Given the description of an element on the screen output the (x, y) to click on. 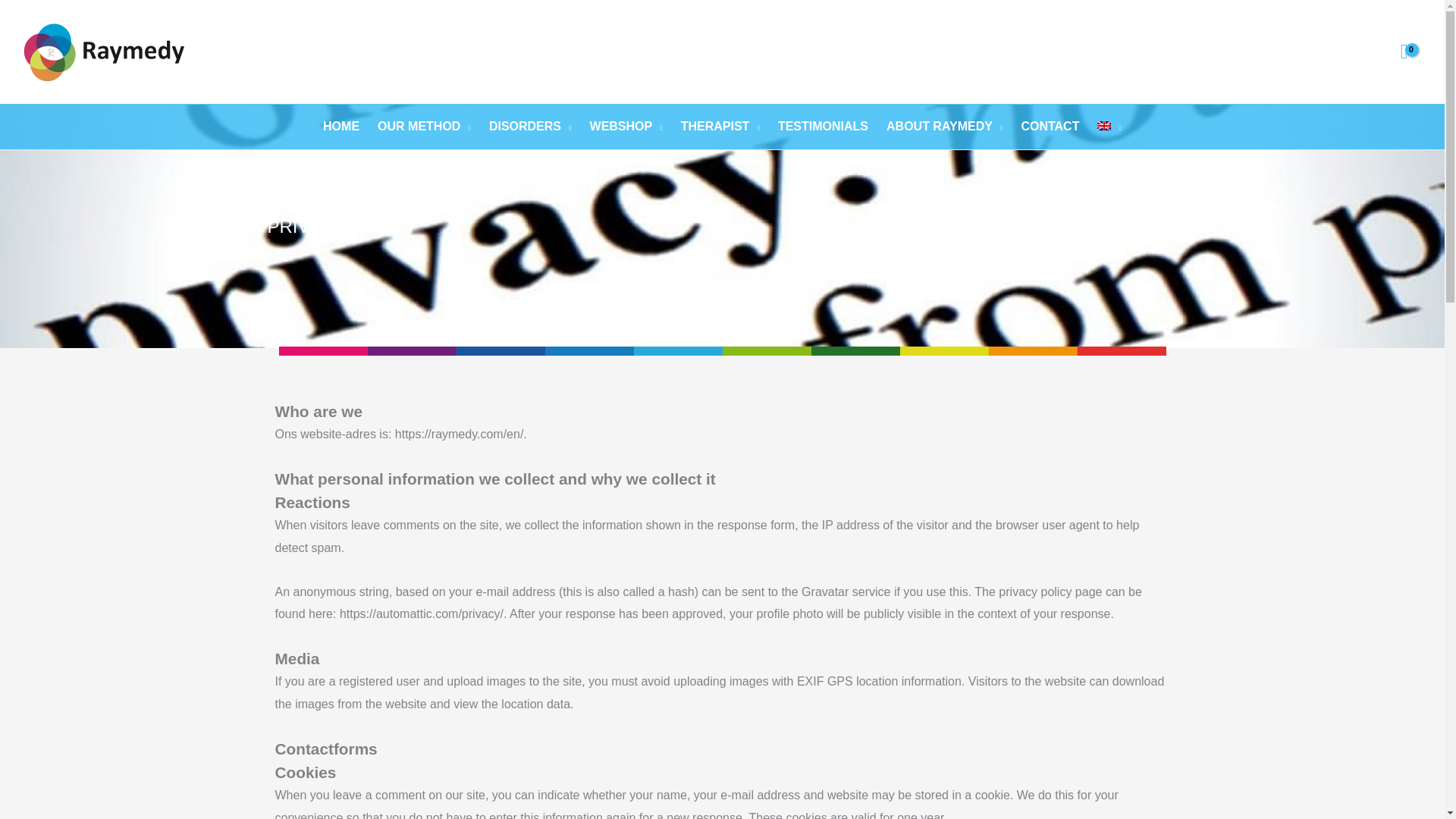
HOME (341, 126)
ABOUT RAYMEDY (944, 126)
OUR METHOD (424, 126)
THERAPIST (719, 126)
WEBSHOP (625, 126)
TESTIMONIALS (822, 126)
DISORDERS (530, 126)
CONTACT (1049, 126)
